Given the description of an element on the screen output the (x, y) to click on. 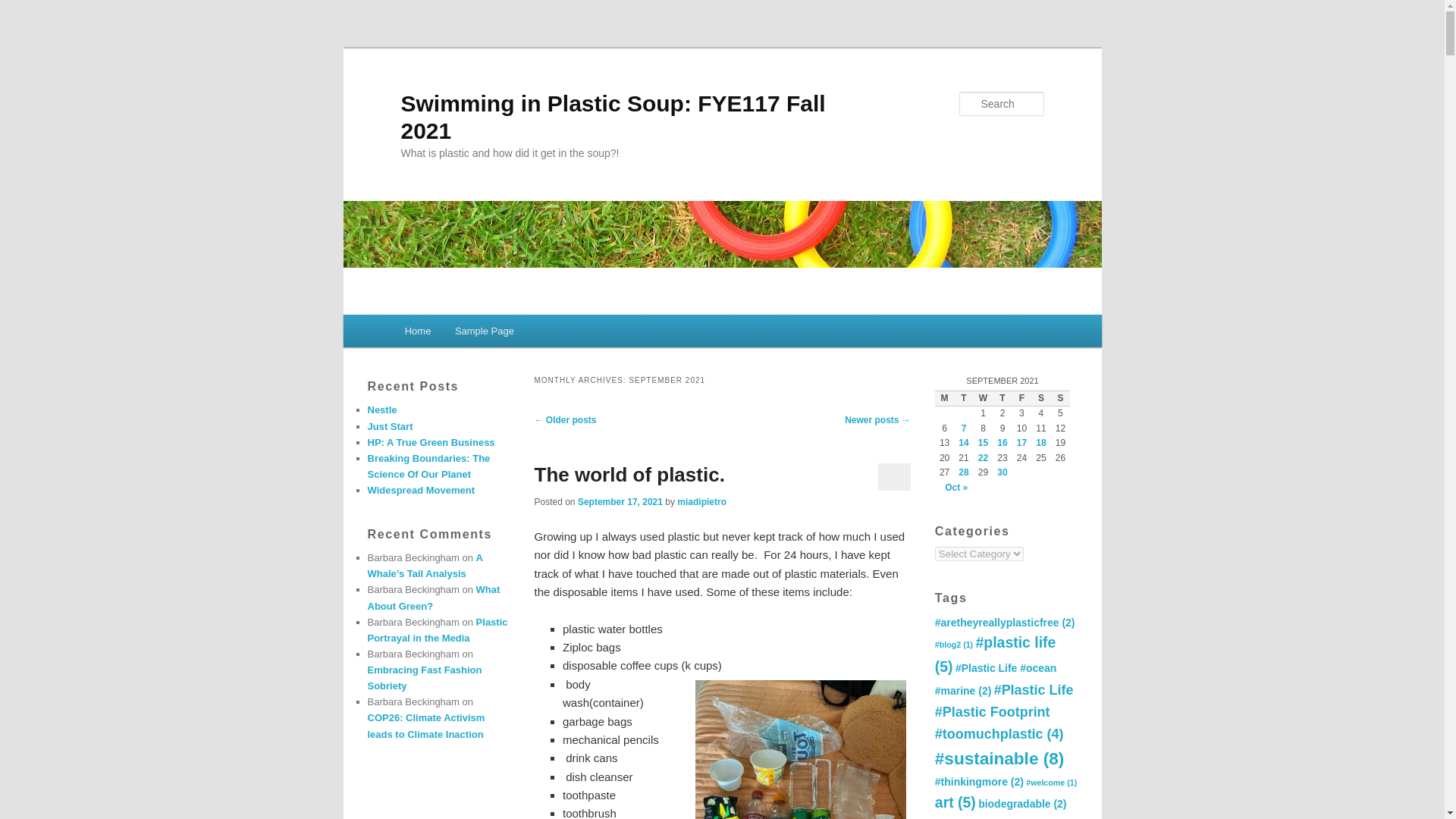
Home (417, 330)
The world of plastic. (628, 474)
View all posts by miadipietro (701, 501)
Swimming in Plastic Soup: FYE117 Fall 2021 (612, 116)
September 17, 2021 (620, 501)
miadipietro (701, 501)
Sample Page (483, 330)
Permalink to The world of plastic. (628, 474)
Skip to primary content (472, 333)
Search (24, 8)
